Given the description of an element on the screen output the (x, y) to click on. 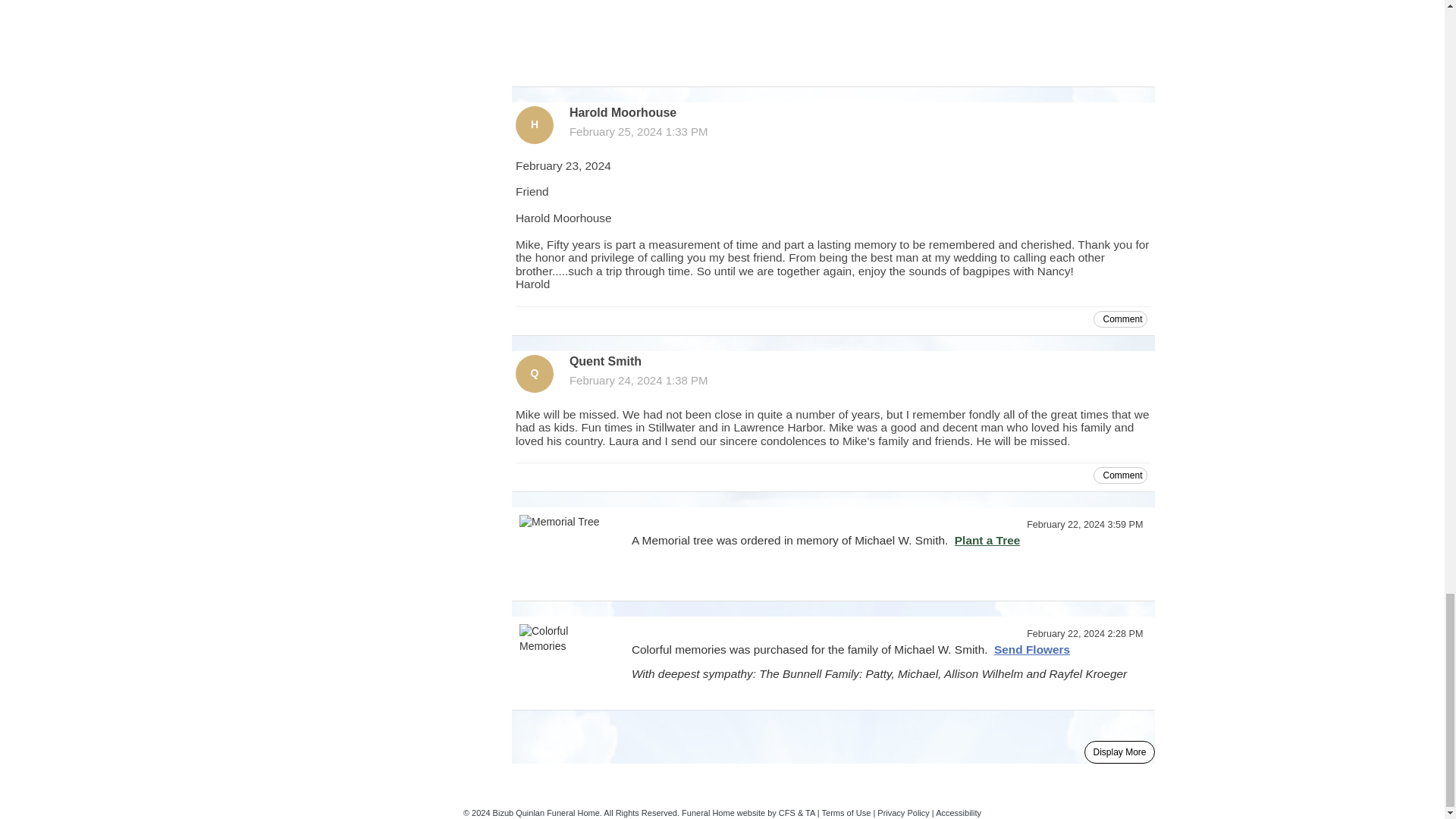
Quent Smith (534, 373)
Harold Moorhouse (534, 125)
